Given the description of an element on the screen output the (x, y) to click on. 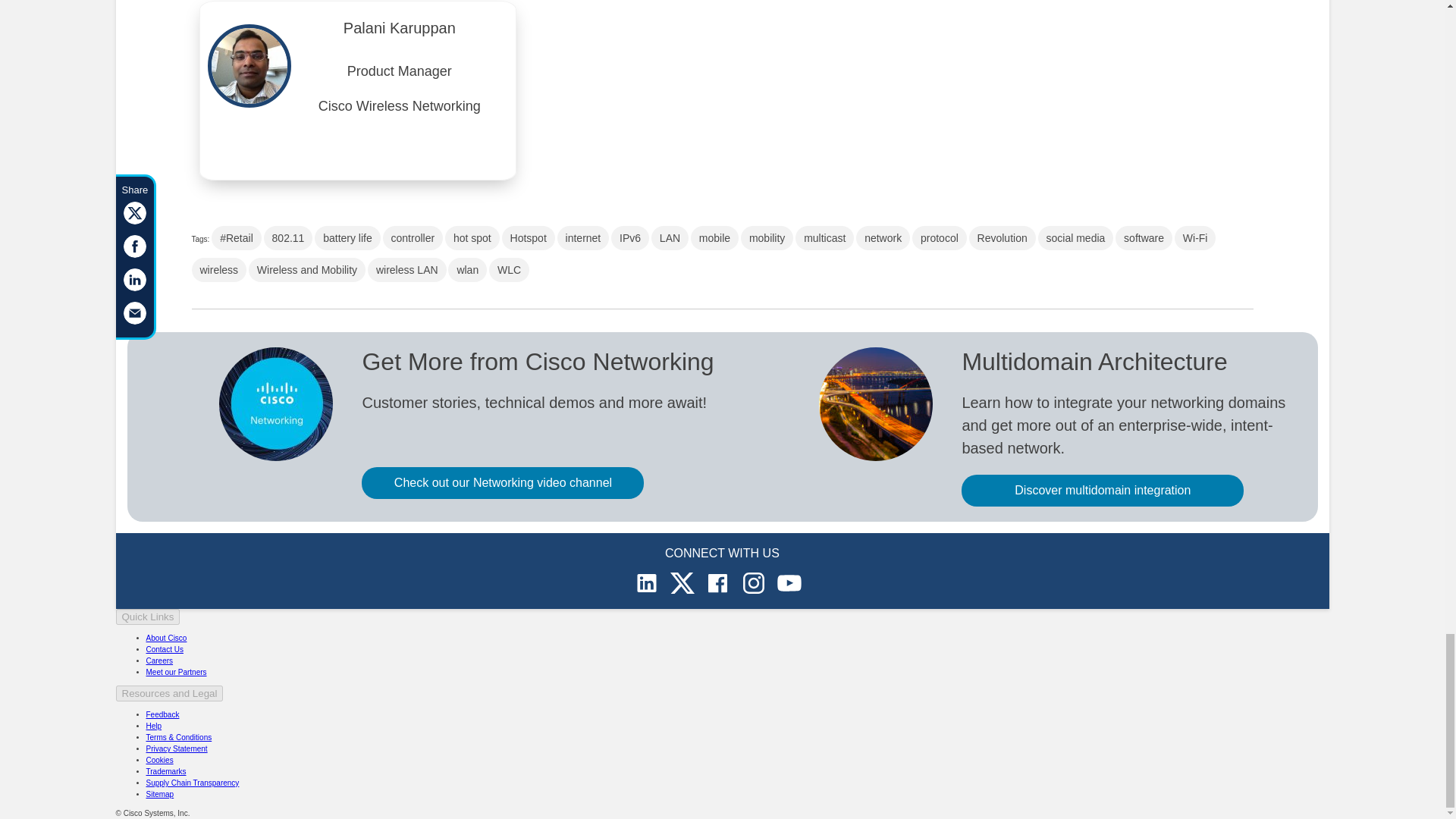
Palani Karuppan (399, 31)
social media (1074, 238)
controller (413, 238)
hot spot (472, 238)
IPv6 (630, 238)
software (1143, 238)
802.11 (288, 238)
protocol (939, 238)
mobility (767, 238)
Revolution (1002, 238)
